Given the description of an element on the screen output the (x, y) to click on. 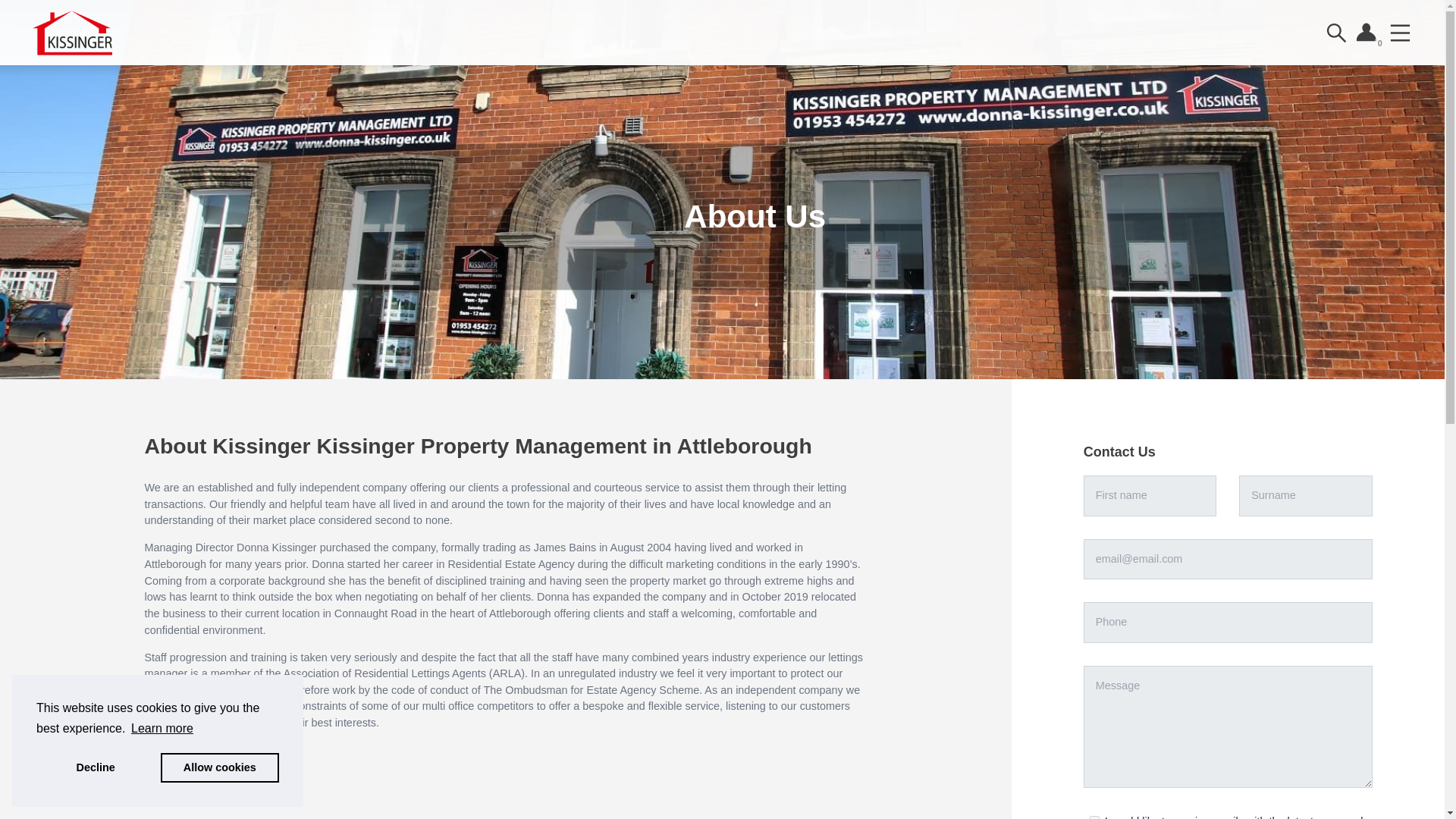
Learn more (162, 728)
Contact Us (1228, 452)
on (1094, 817)
Decline (95, 767)
0 (1368, 33)
Allow cookies (219, 767)
